Given the description of an element on the screen output the (x, y) to click on. 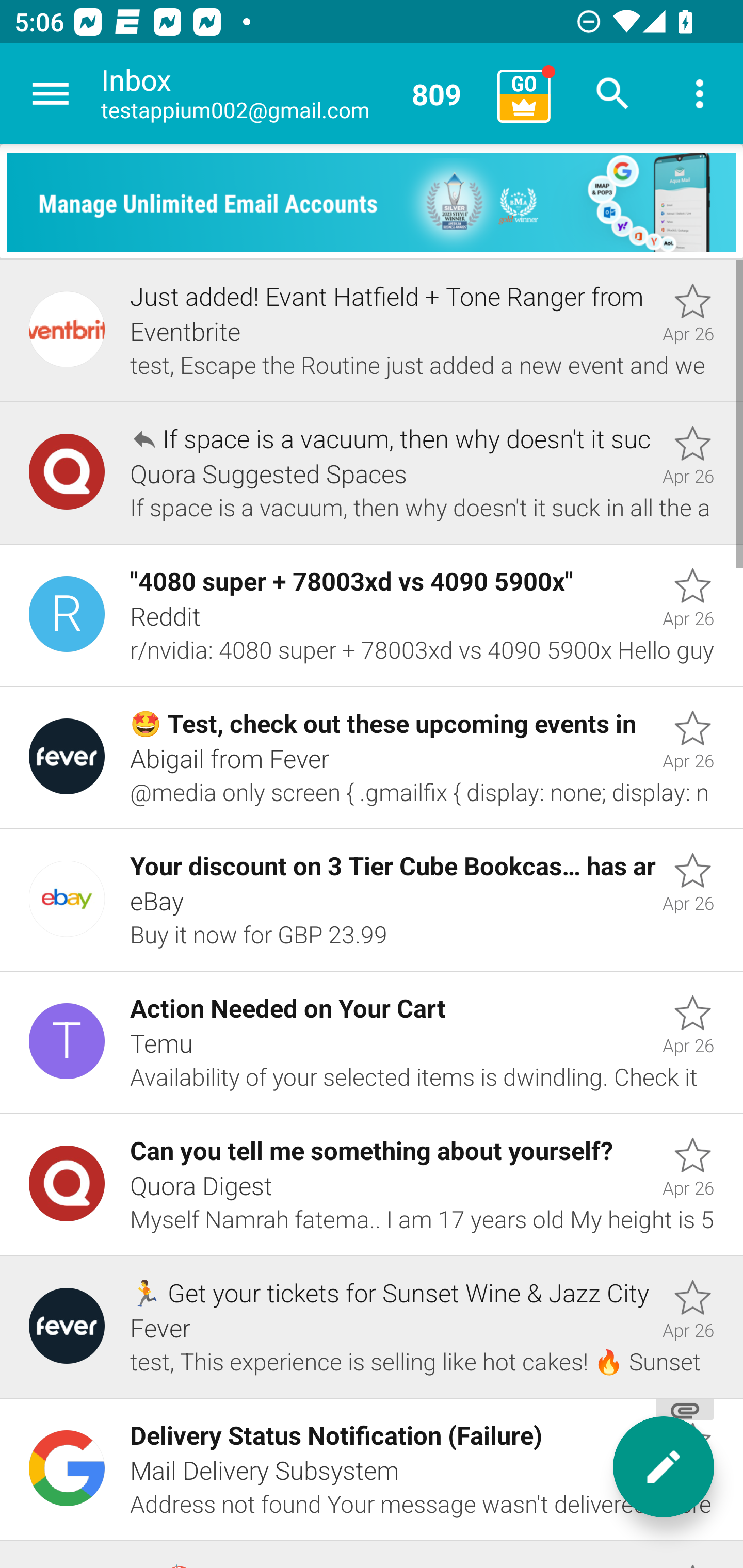
Navigate up (50, 93)
Inbox testappium002@gmail.com 809 (291, 93)
Search (612, 93)
More options (699, 93)
New message (663, 1466)
